Given the description of an element on the screen output the (x, y) to click on. 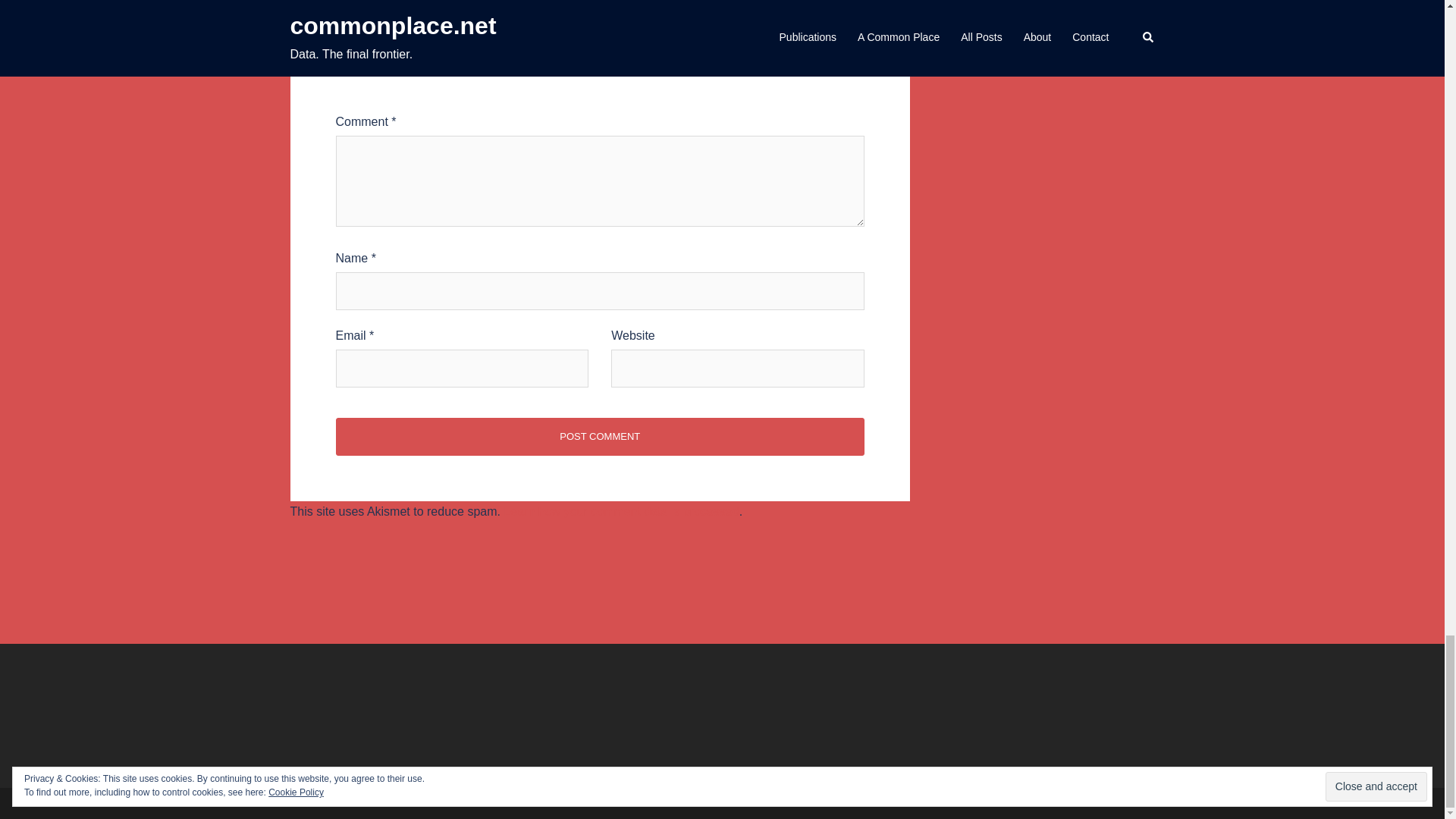
Post Comment (599, 436)
